Given the description of an element on the screen output the (x, y) to click on. 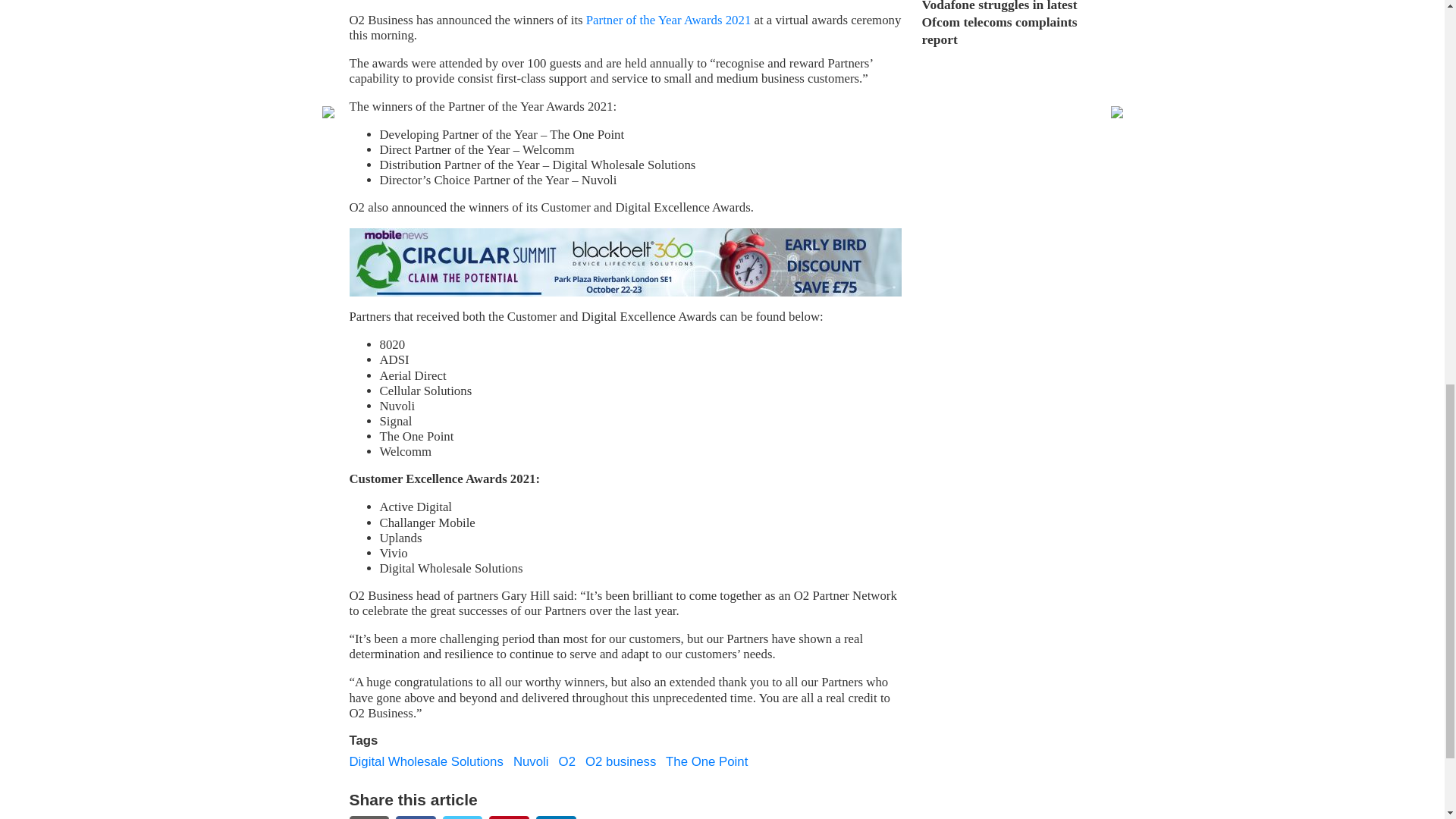
Digital Wholesale Solutions (425, 761)
O2 business (620, 761)
O2 (567, 761)
Nuvoli (530, 761)
The One Point (706, 761)
Partner of the Year Awards 2021 (668, 20)
